Given the description of an element on the screen output the (x, y) to click on. 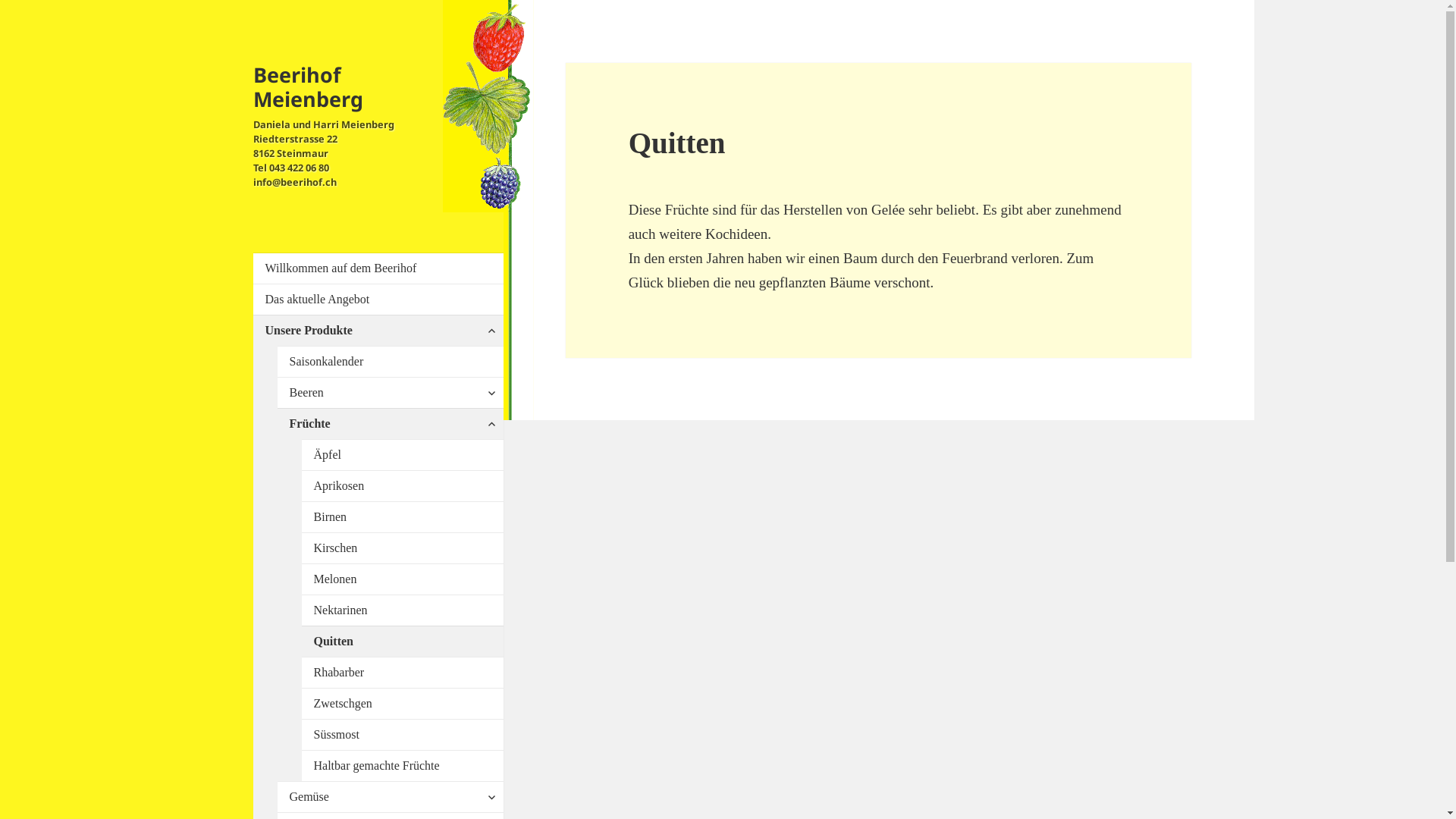
info@beerihof.ch Element type: text (294, 181)
Kirschen Element type: text (408, 548)
Das aktuelle Angebot Element type: text (384, 299)
Beerihof Meienberg Element type: text (308, 86)
Birnen Element type: text (408, 517)
Aprikosen Element type: text (408, 485)
Unsere Produkte Element type: text (384, 330)
Willkommen auf dem Beerihof Element type: text (384, 268)
Rhabarber Element type: text (408, 672)
Logo Beerihof Element type: hover (487, 106)
Saisonkalender Element type: text (396, 361)
Beeren Element type: text (396, 392)
Nektarinen Element type: text (408, 610)
Melonen Element type: text (408, 579)
Zwetschgen Element type: text (408, 703)
Quitten Element type: text (408, 641)
